Given the description of an element on the screen output the (x, y) to click on. 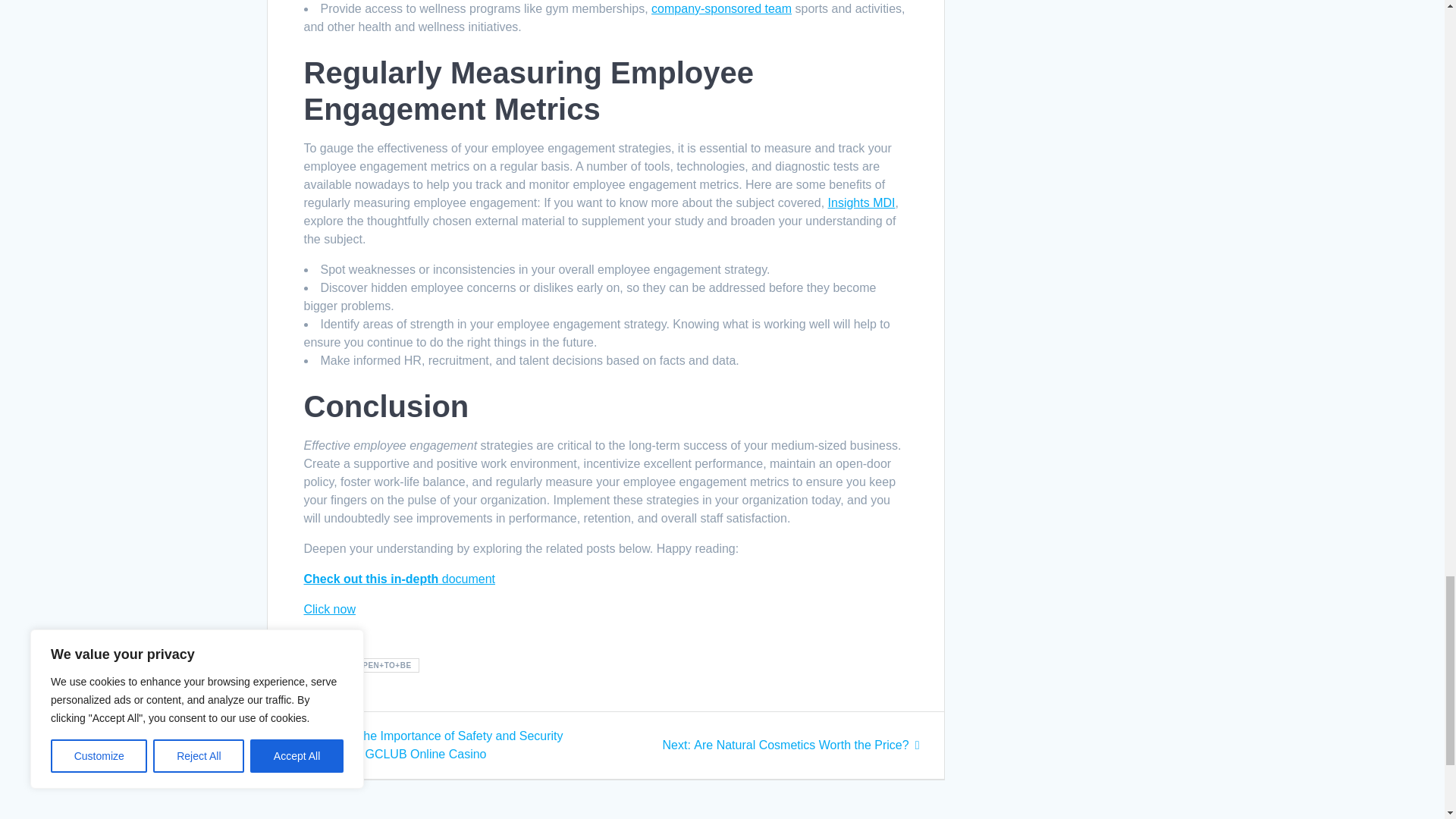
Insights MDI (791, 744)
Click now (861, 202)
company-sponsored team (328, 608)
Check out this in-depth document (721, 8)
